Given the description of an element on the screen output the (x, y) to click on. 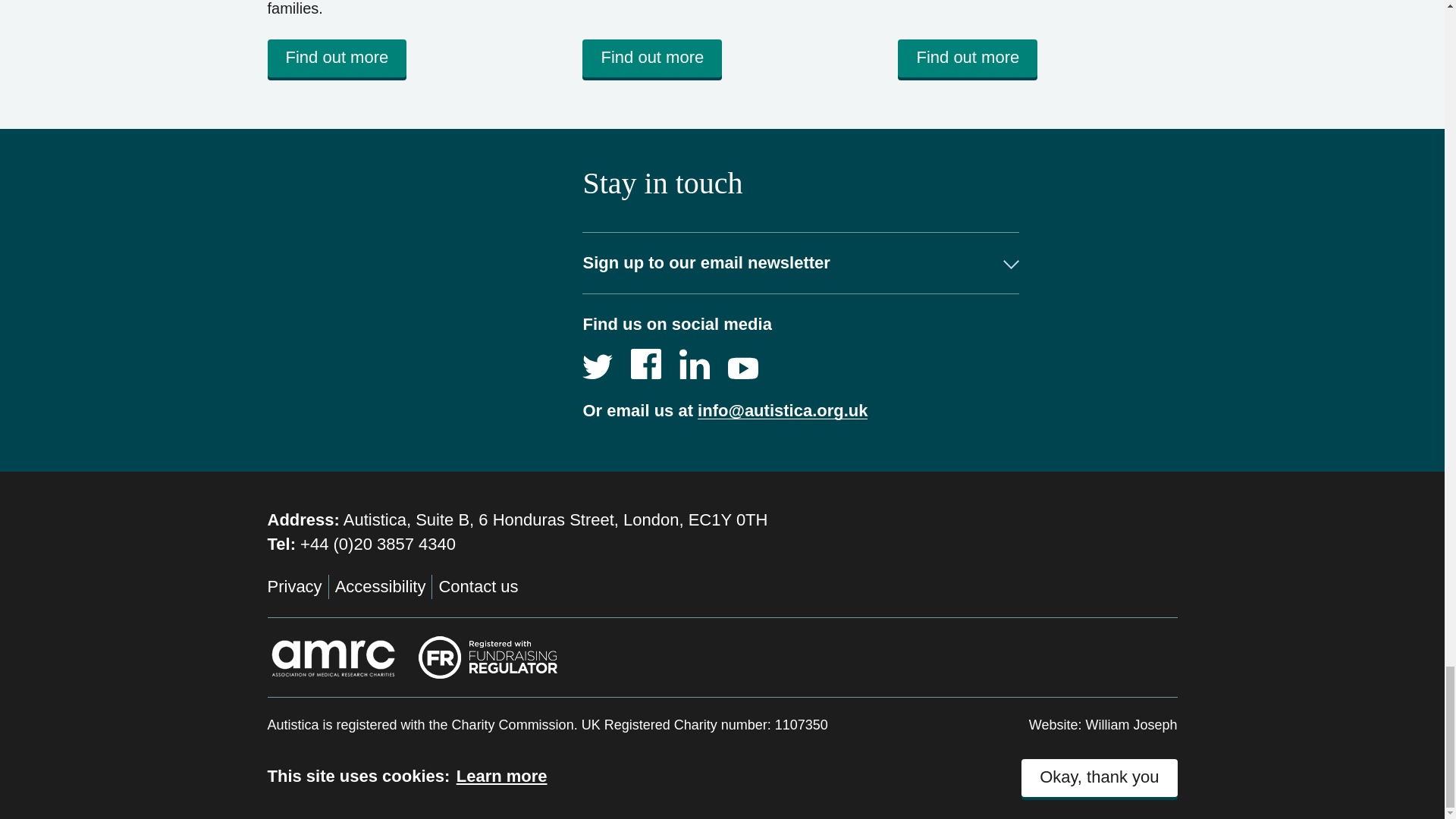
linkedin (694, 363)
Facebook (645, 363)
Twitter (597, 363)
YouTube (743, 363)
